Given the description of an element on the screen output the (x, y) to click on. 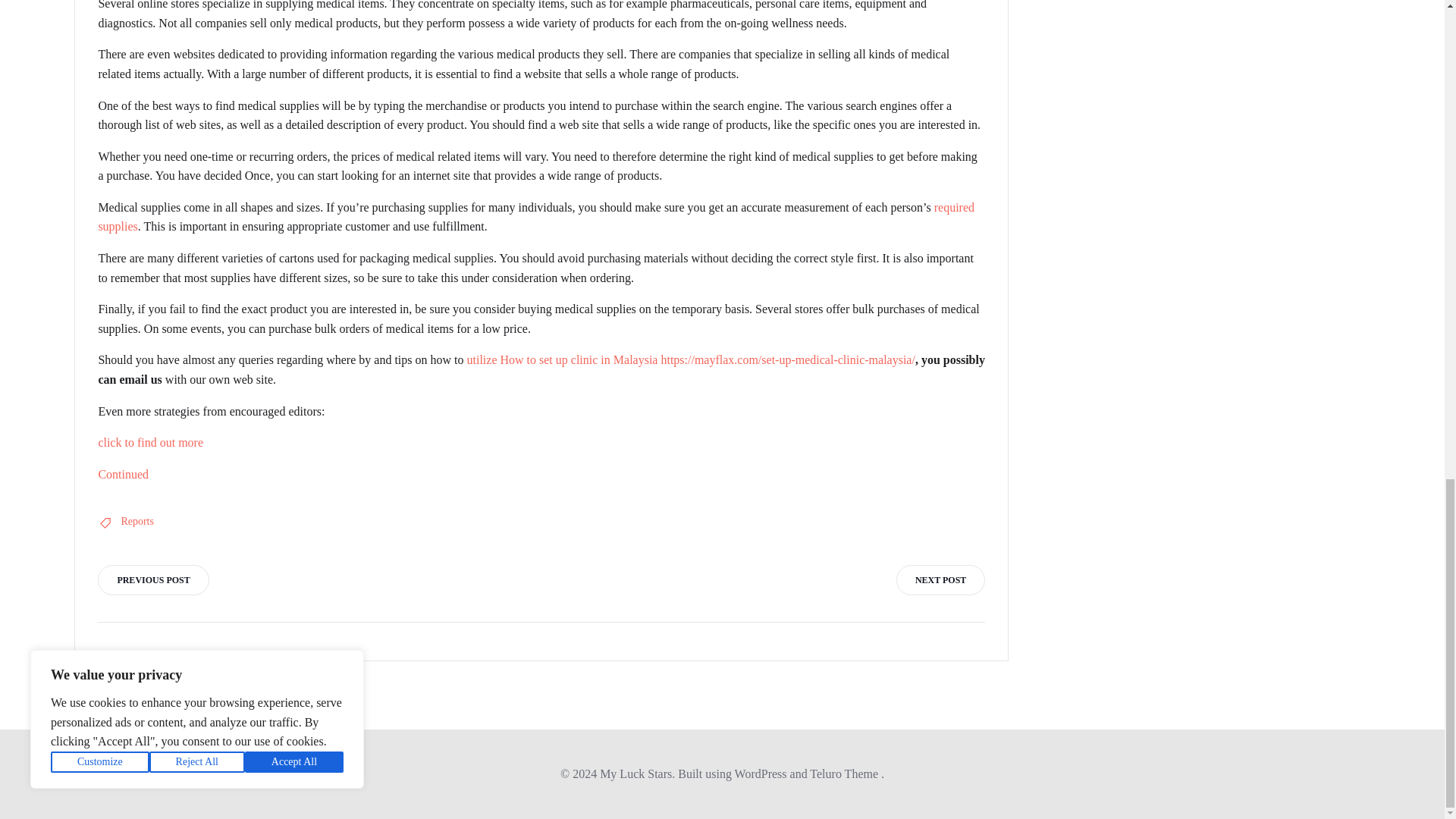
Tag: Reports (137, 521)
required supplies (535, 216)
Reports (137, 521)
PREVIOUS POST (152, 580)
NEXT POST (940, 580)
utilize (482, 359)
click to find out more (150, 441)
Continued (122, 473)
